Given the description of an element on the screen output the (x, y) to click on. 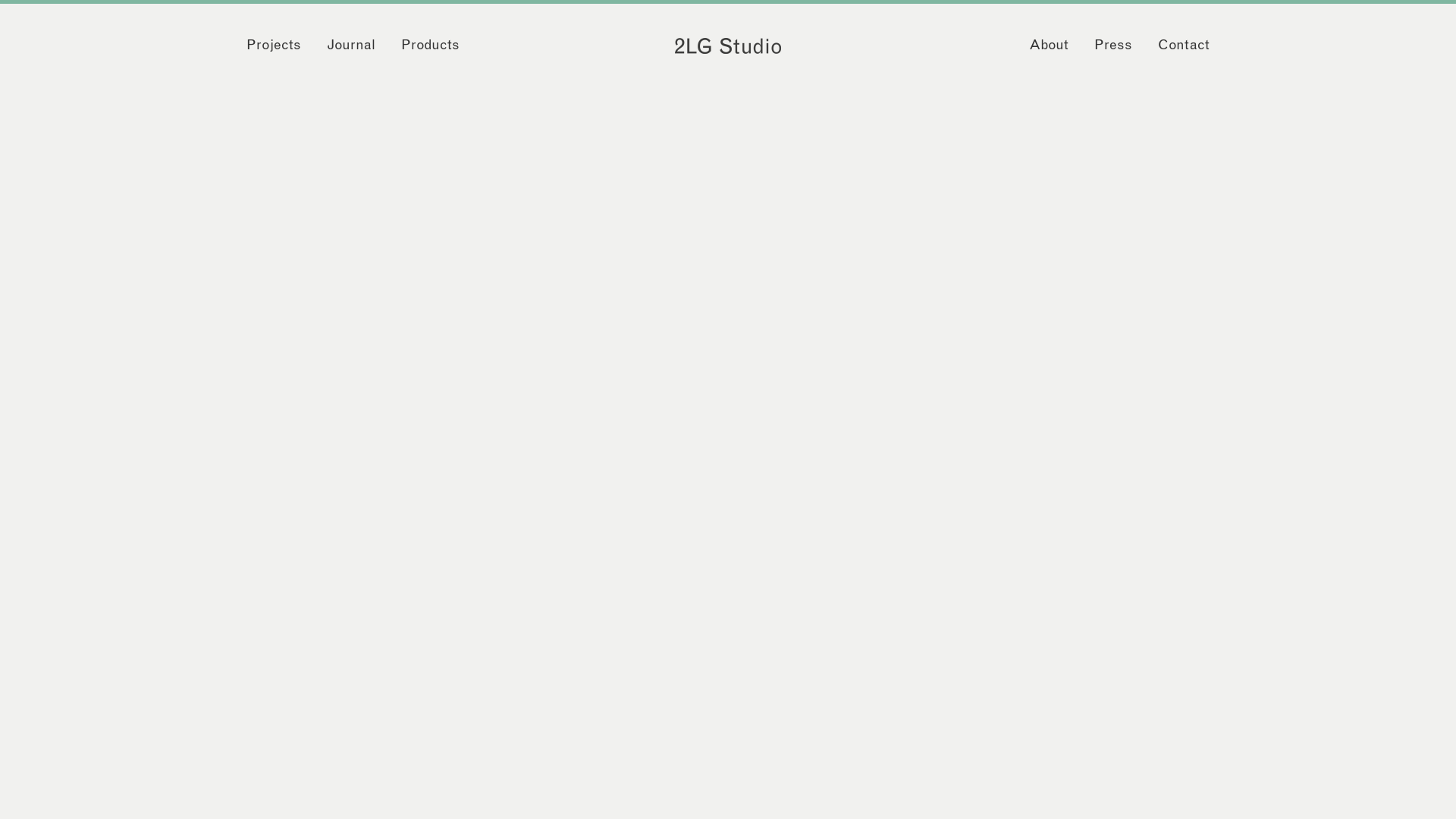
Products Element type: text (430, 45)
Contact Element type: text (1183, 45)
Journal Element type: text (350, 45)
About Element type: text (1048, 45)
Press Element type: text (1113, 45)
Projects Element type: text (273, 45)
